Given the description of an element on the screen output the (x, y) to click on. 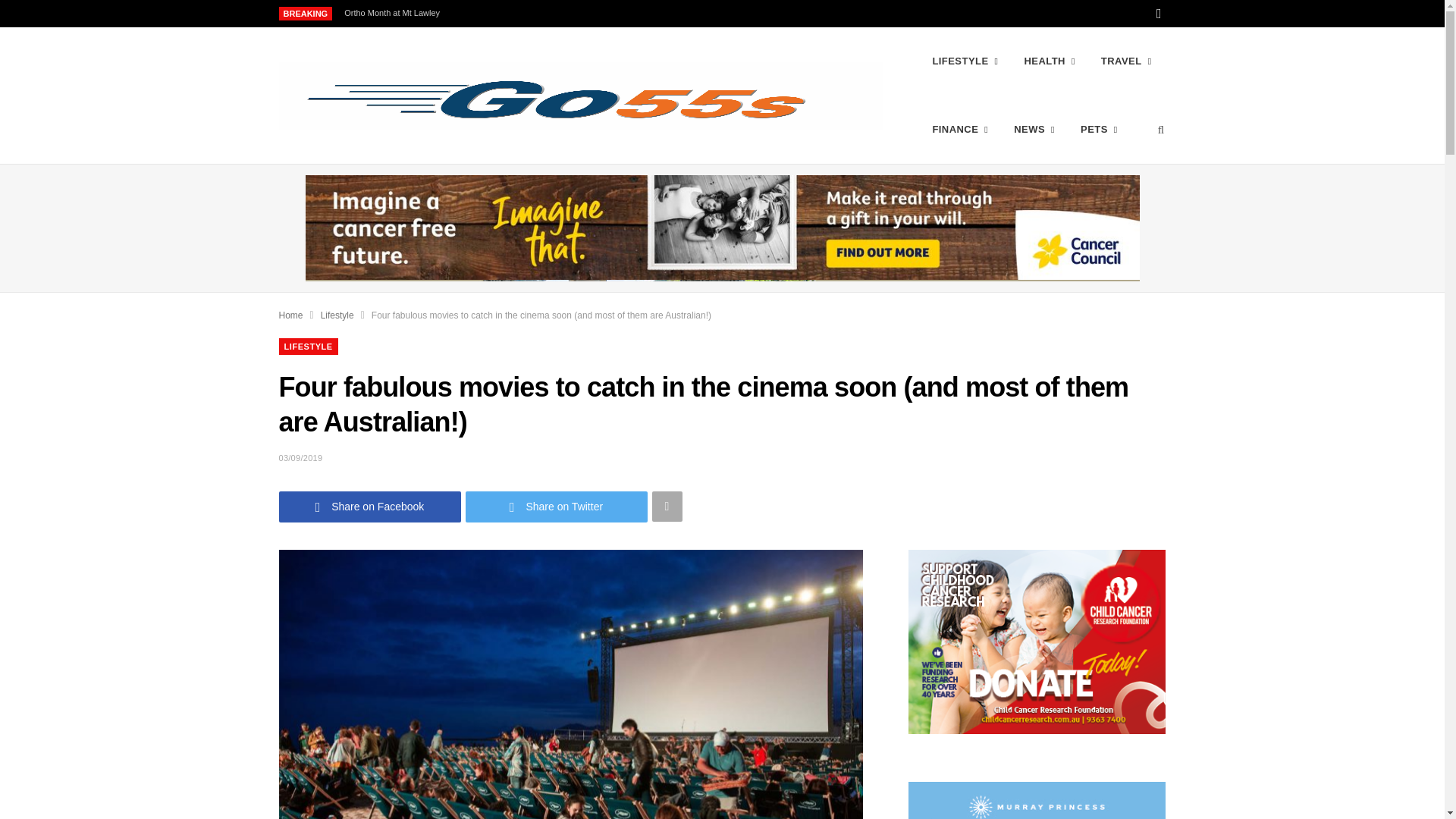
Go55s (581, 96)
Ortho Month at Mt Lawley (394, 12)
LIFESTYLE (964, 61)
Ortho Month at Mt Lawley (394, 12)
HEALTH (1048, 61)
